Given the description of an element on the screen output the (x, y) to click on. 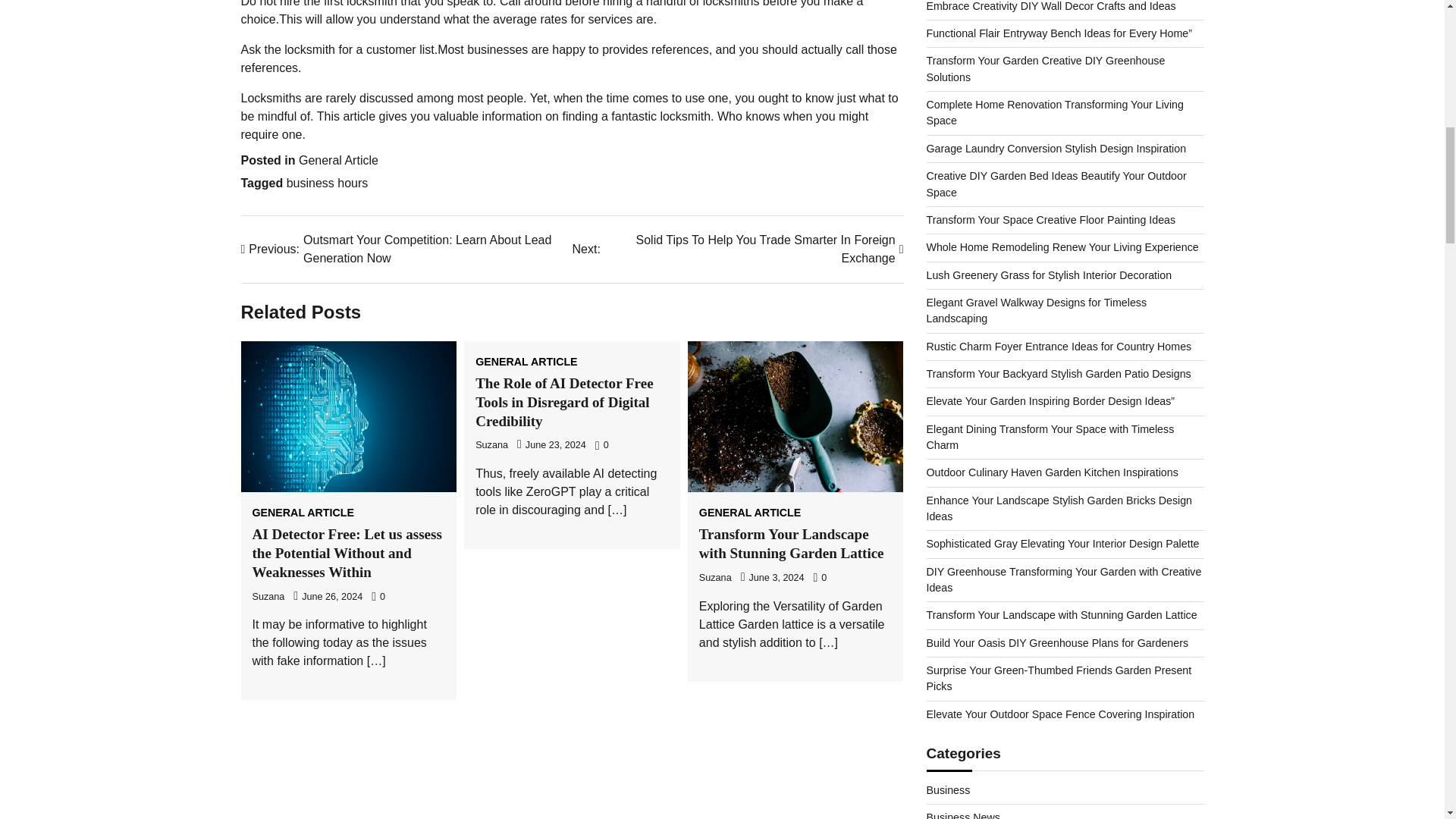
GENERAL ARTICLE (749, 511)
GENERAL ARTICLE (526, 361)
Transform Your Landscape with Stunning Garden Lattice (790, 543)
Suzana (715, 577)
GENERAL ARTICLE (302, 511)
business hours (327, 182)
Suzana (267, 596)
Suzana (492, 444)
General Article (338, 160)
